Given the description of an element on the screen output the (x, y) to click on. 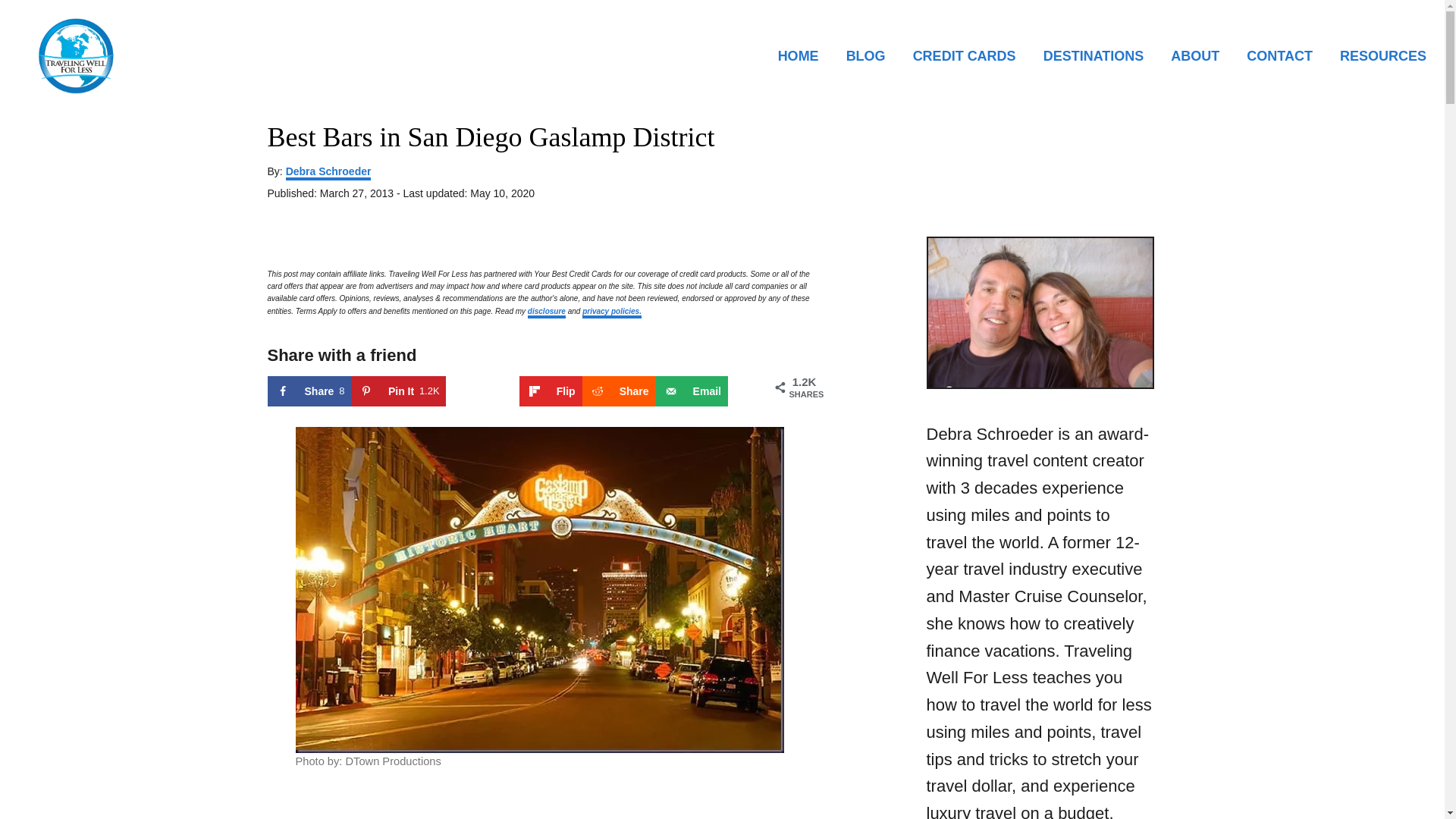
Save to Pinterest (397, 390)
Debra Schroeder (328, 172)
CONTACT (1283, 55)
Share on Flipboard (550, 390)
RESOURCES (1378, 55)
Email (397, 390)
Send over email (692, 390)
Share on Facebook (692, 390)
Flip (308, 390)
